Given the description of an element on the screen output the (x, y) to click on. 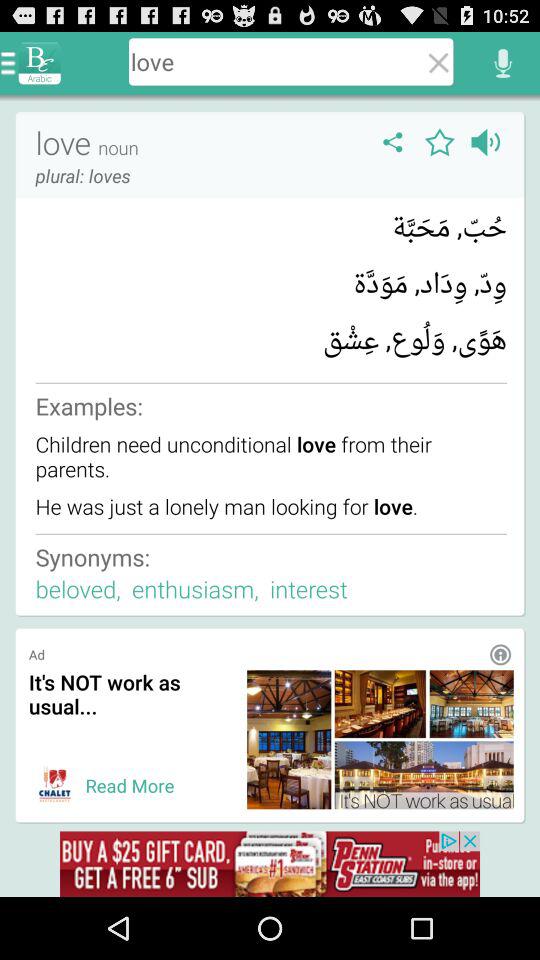
open advertisements (270, 864)
